Given the description of an element on the screen output the (x, y) to click on. 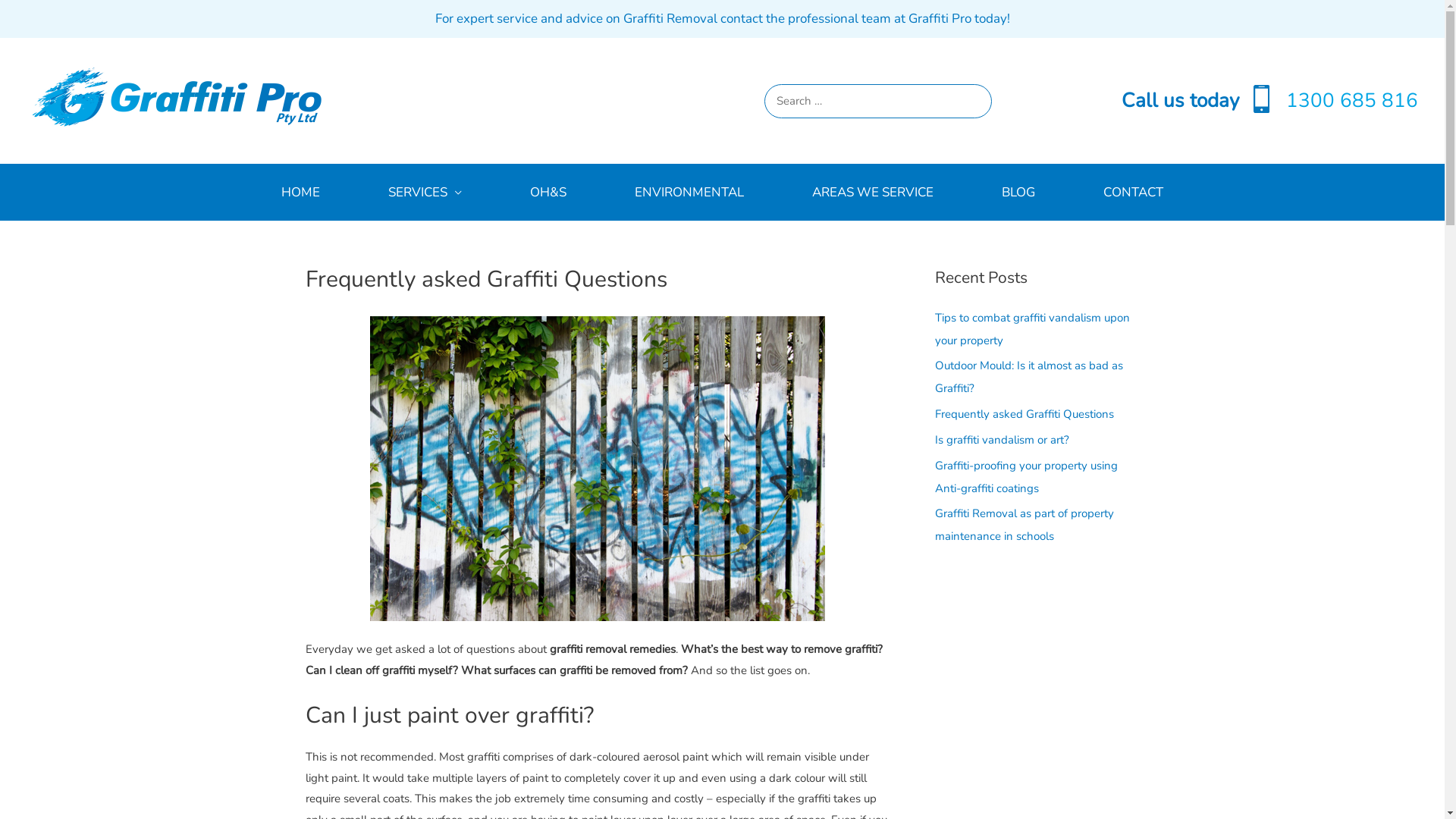
Graffiti Removal as part of property maintenance in schools Element type: text (1023, 524)
BLOG Element type: text (1018, 191)
OH&S Element type: text (547, 191)
Outdoor Mould: Is it almost as bad as Graffiti? Element type: text (1028, 376)
Search Element type: text (974, 103)
CONTACT Element type: text (1133, 191)
ENVIRONMENTAL Element type: text (689, 191)
Frequently asked Graffiti Questions Element type: text (1023, 413)
Tips to combat graffiti vandalism upon your property Element type: text (1031, 328)
Is graffiti vandalism or art? Element type: text (1001, 439)
AREAS WE SERVICE Element type: text (872, 191)
HOME Element type: text (300, 191)
Graffiti-proofing your property using Anti-graffiti coatings Element type: text (1025, 476)
SERVICES Element type: text (424, 191)
